Given the description of an element on the screen output the (x, y) to click on. 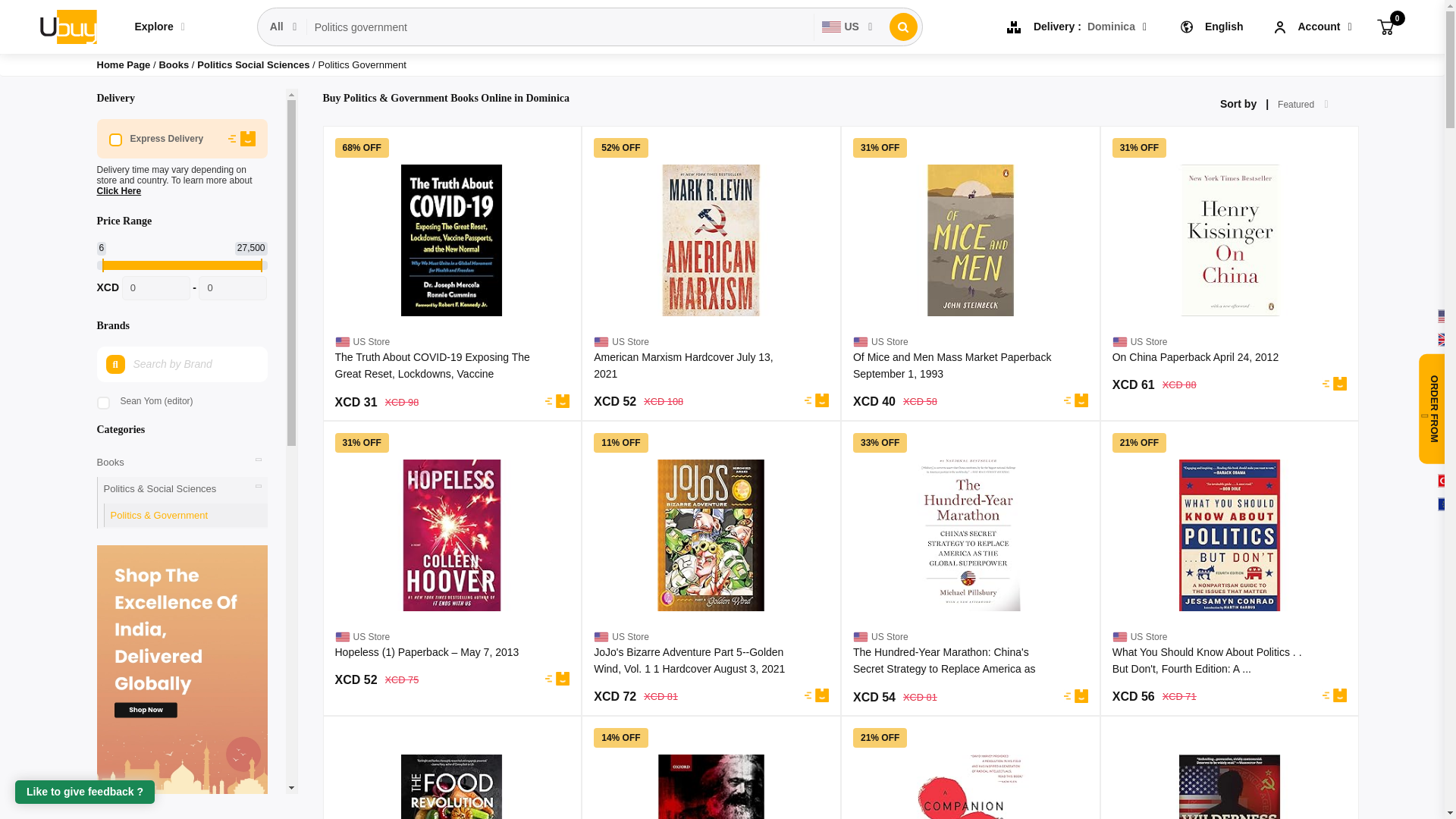
0 (156, 288)
Ubuy (67, 26)
US (846, 26)
Books (174, 64)
Home Page (124, 64)
0 (232, 288)
All (283, 26)
Books (174, 64)
Politics government (560, 26)
Cart (1385, 26)
Politics government (560, 26)
0 (1385, 26)
Home Page (124, 64)
